Given the description of an element on the screen output the (x, y) to click on. 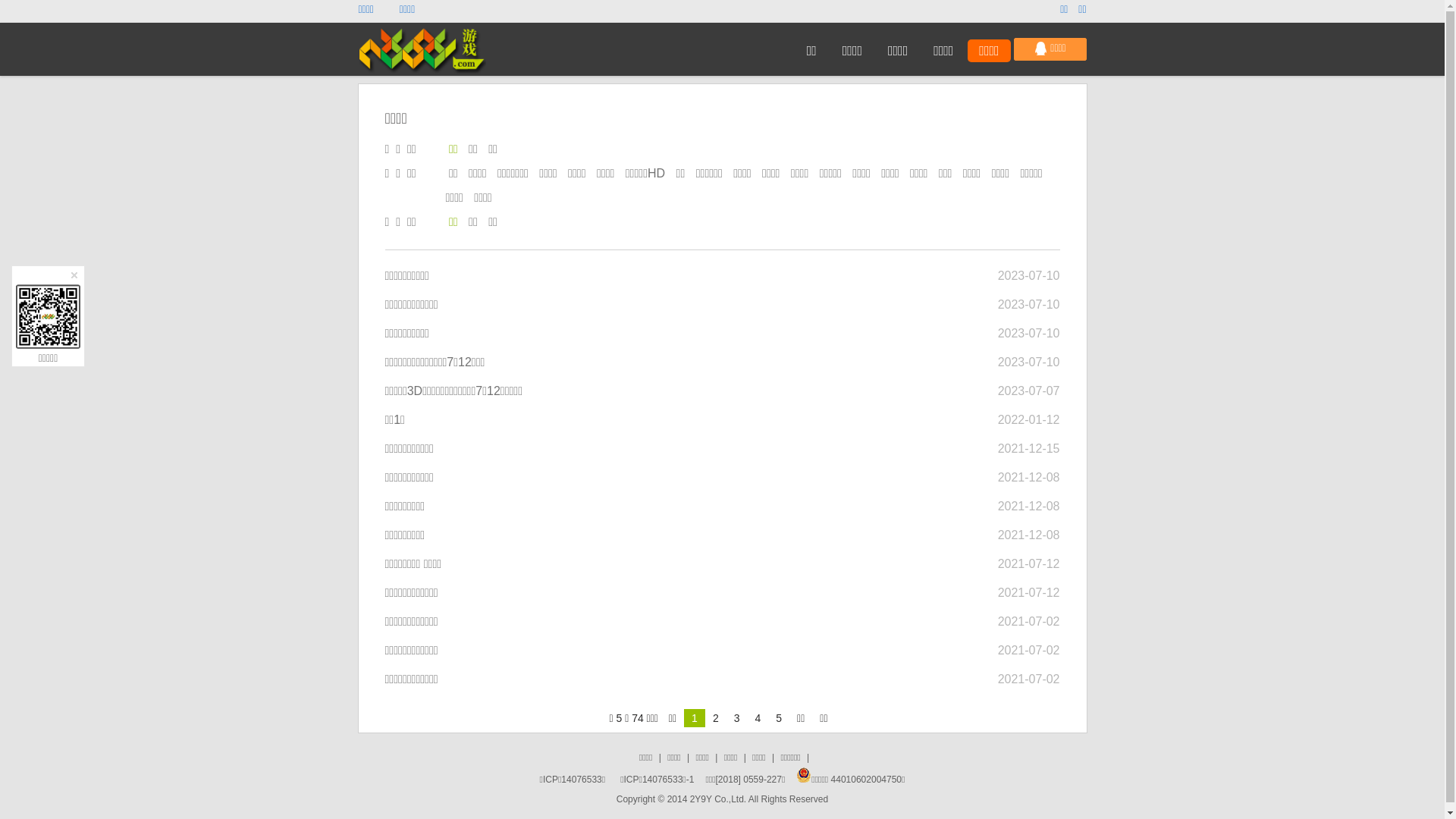
2 Element type: text (715, 718)
1 Element type: text (694, 718)
5 Element type: text (778, 718)
4 Element type: text (757, 718)
3 Element type: text (736, 718)
